Given the description of an element on the screen output the (x, y) to click on. 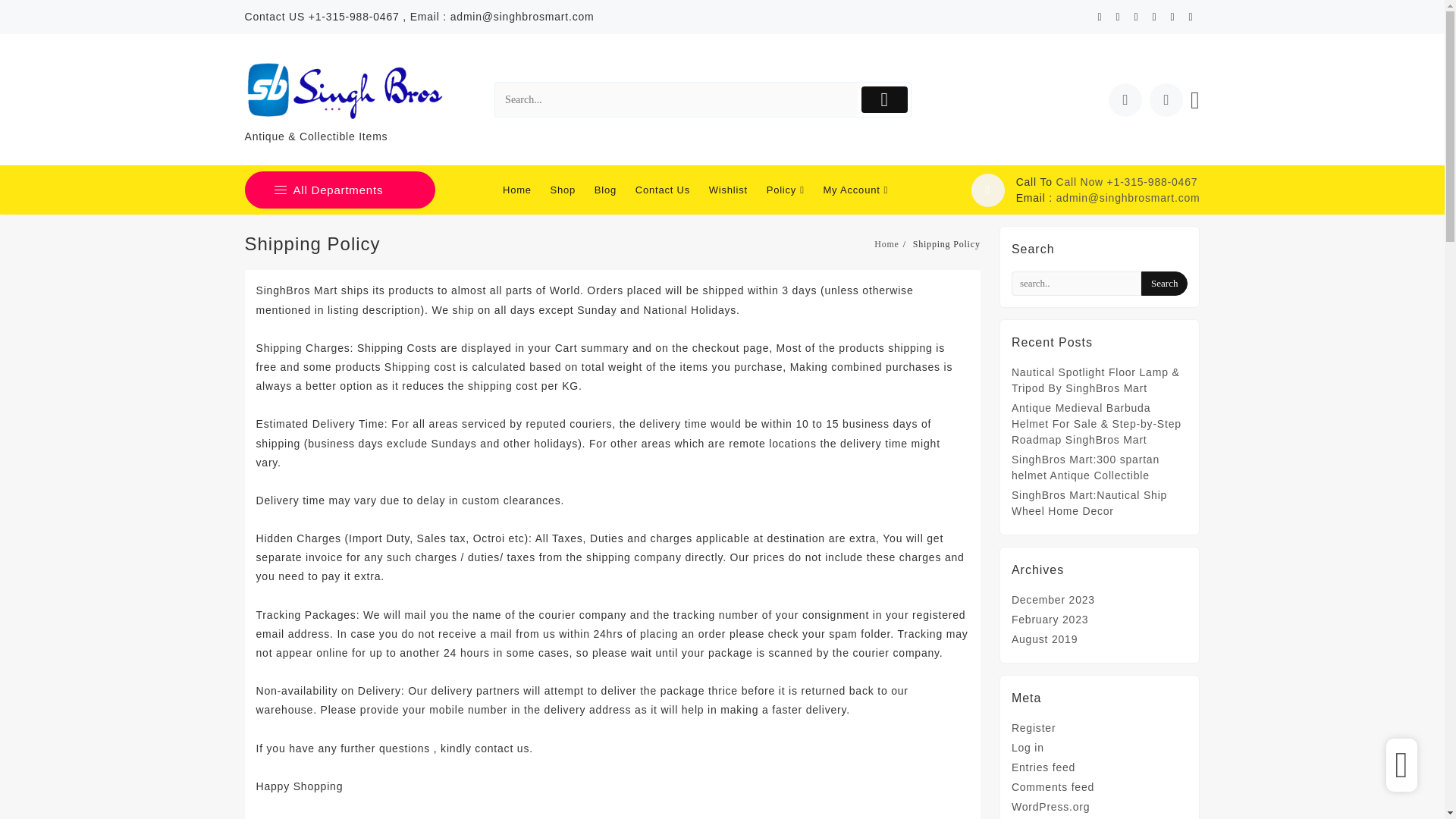
Search (1164, 283)
Submit (884, 99)
Search (676, 99)
